Given the description of an element on the screen output the (x, y) to click on. 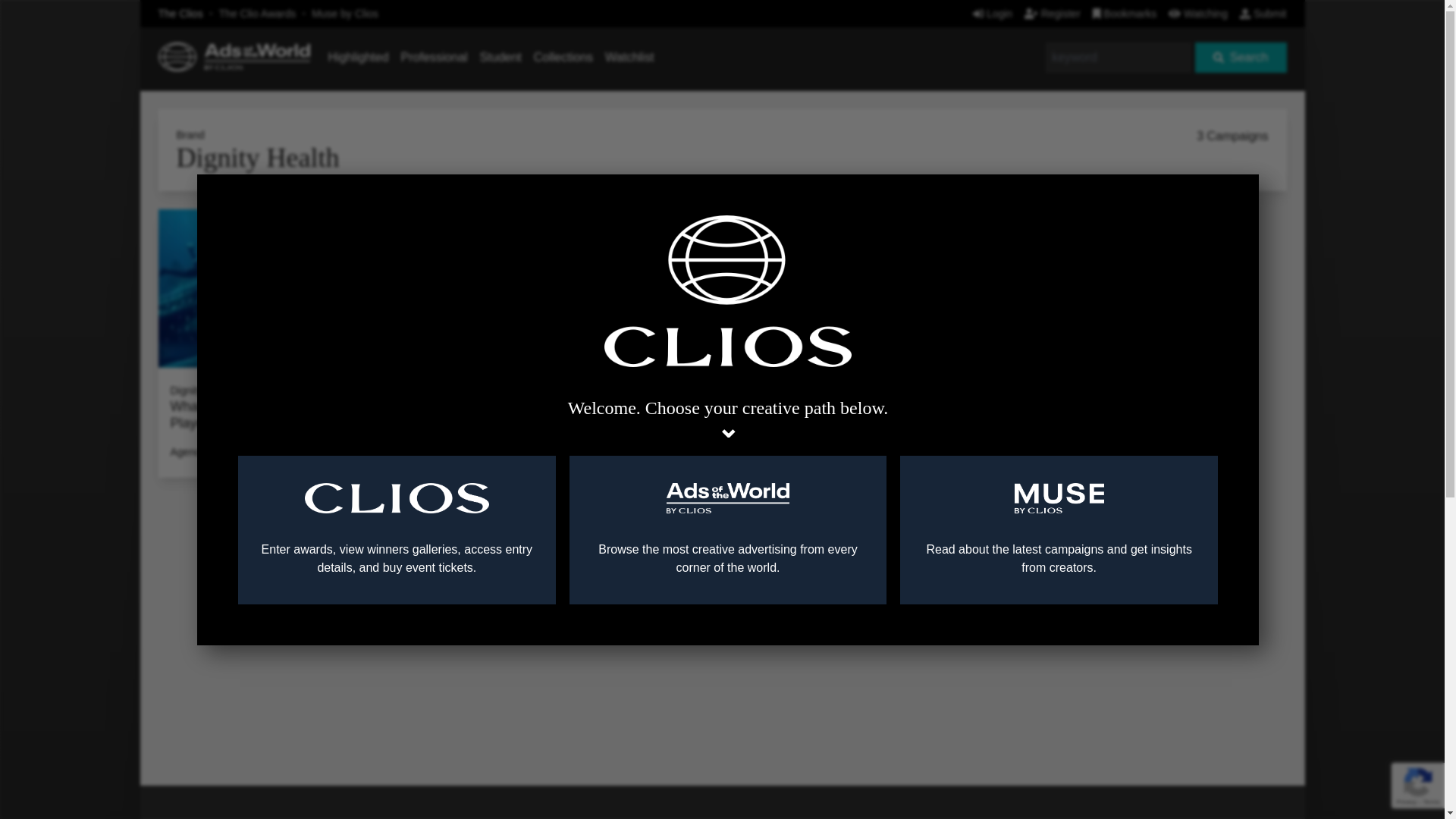
Muse by Clios (344, 13)
Login (991, 13)
Professional (434, 56)
Search (1241, 57)
The Clio Awards (258, 13)
Watchlist (629, 56)
Watching (1198, 13)
Watching (1198, 13)
Collections (563, 56)
Bookmarks (1125, 13)
